Given the description of an element on the screen output the (x, y) to click on. 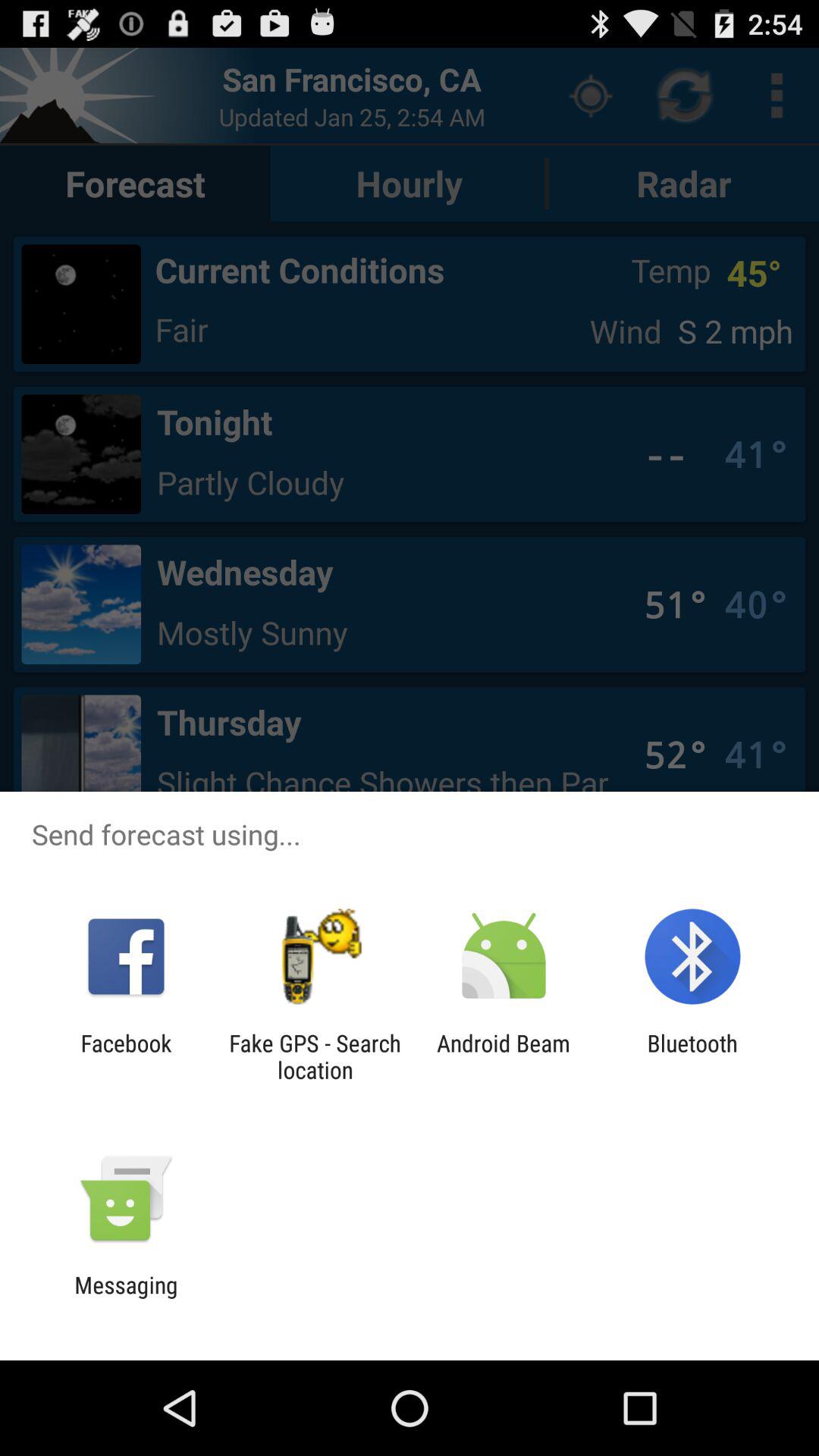
select the item at the bottom right corner (692, 1056)
